Given the description of an element on the screen output the (x, y) to click on. 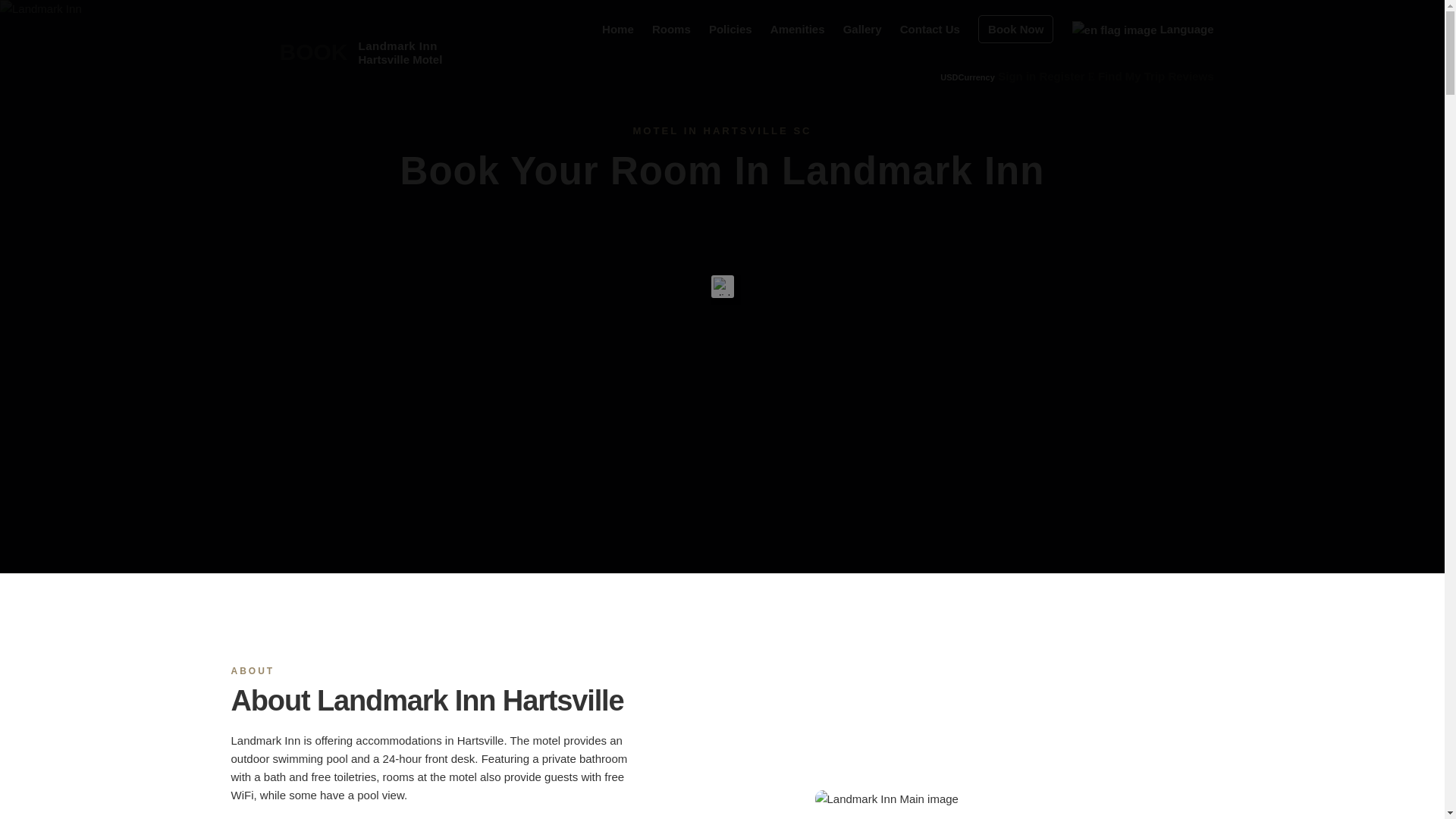
Contact Us (929, 29)
Language (305, 52)
Gallery (1142, 29)
Policies (862, 29)
Home (967, 77)
Book Now (730, 29)
Amenities (617, 29)
Rooms (1015, 29)
